Given the description of an element on the screen output the (x, y) to click on. 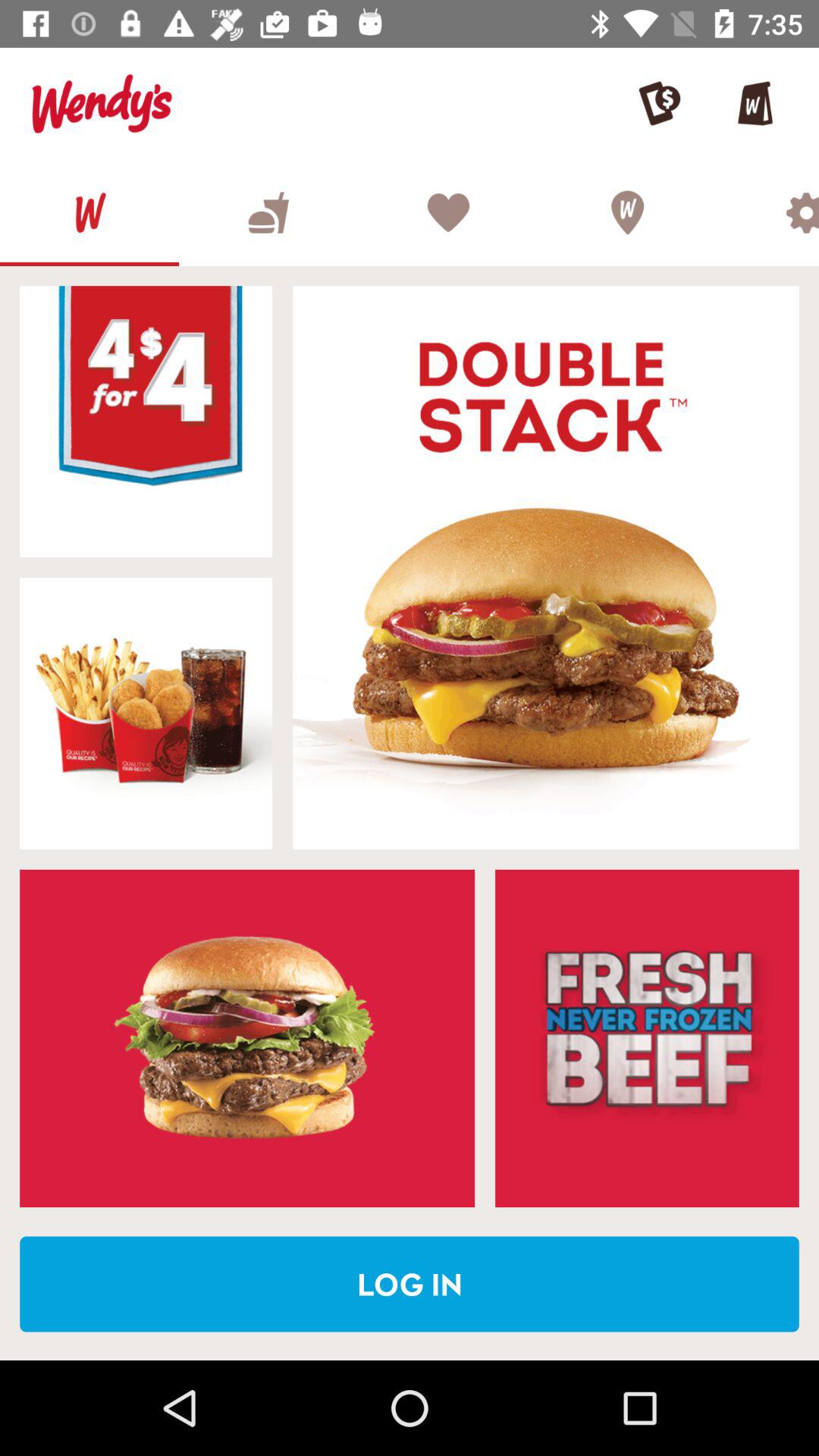
open icon above log in (647, 1038)
